Given the description of an element on the screen output the (x, y) to click on. 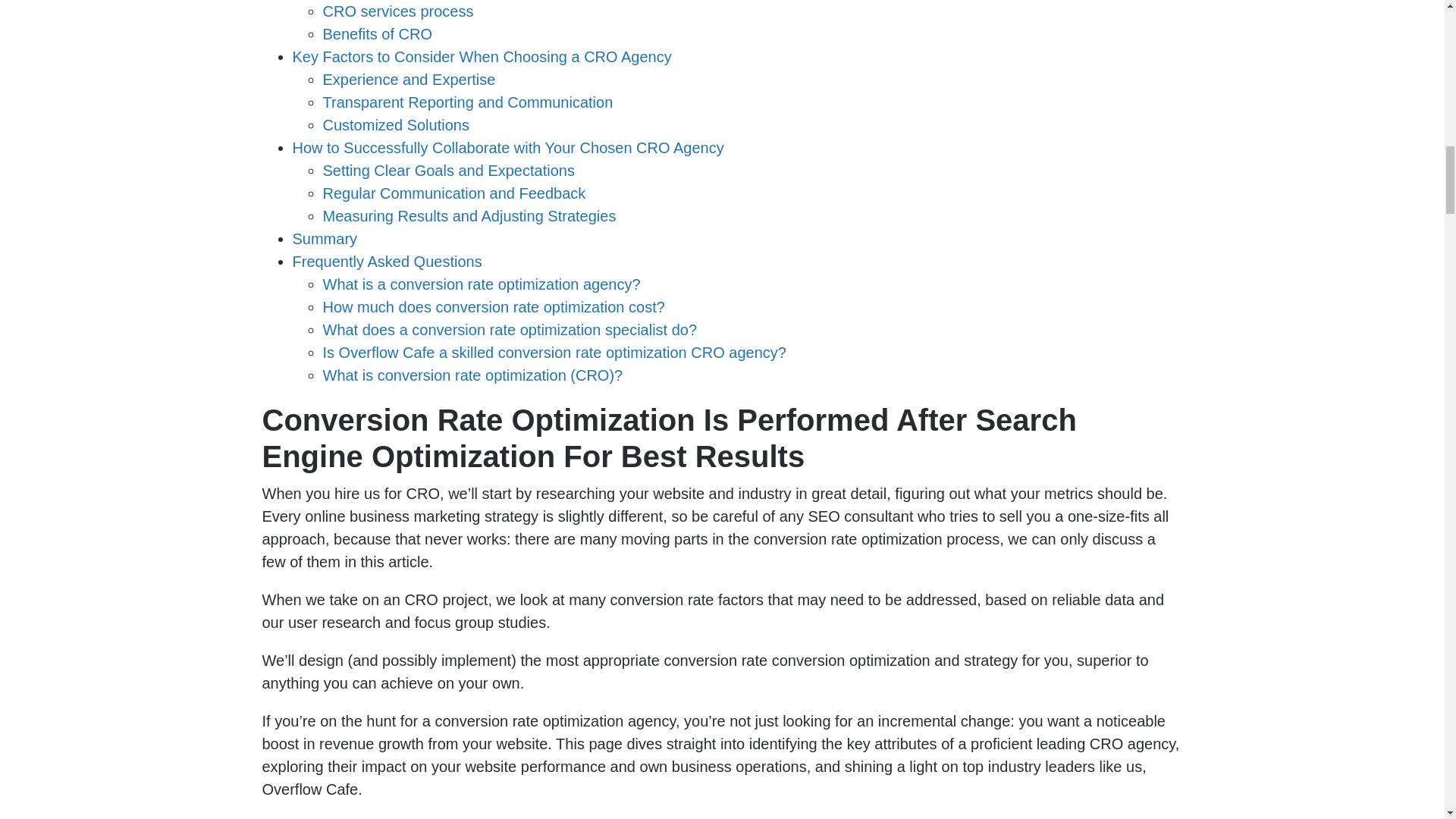
CRO services process (398, 11)
How much does conversion rate optimization cost? (494, 306)
What is a conversion rate optimization agency? (481, 284)
Key Factors to Consider When Choosing a CRO Agency (481, 56)
Regular Communication and Feedback (454, 193)
Experience and Expertise (409, 79)
Measuring Results and Adjusting Strategies (469, 216)
Setting Clear Goals and Expectations (449, 170)
Customized Solutions (395, 125)
Summary (325, 238)
Frequently Asked Questions (386, 261)
Benefits of CRO (377, 33)
How to Successfully Collaborate with Your Chosen CRO Agency (507, 147)
What does a conversion rate optimization specialist do? (510, 329)
